Given the description of an element on the screen output the (x, y) to click on. 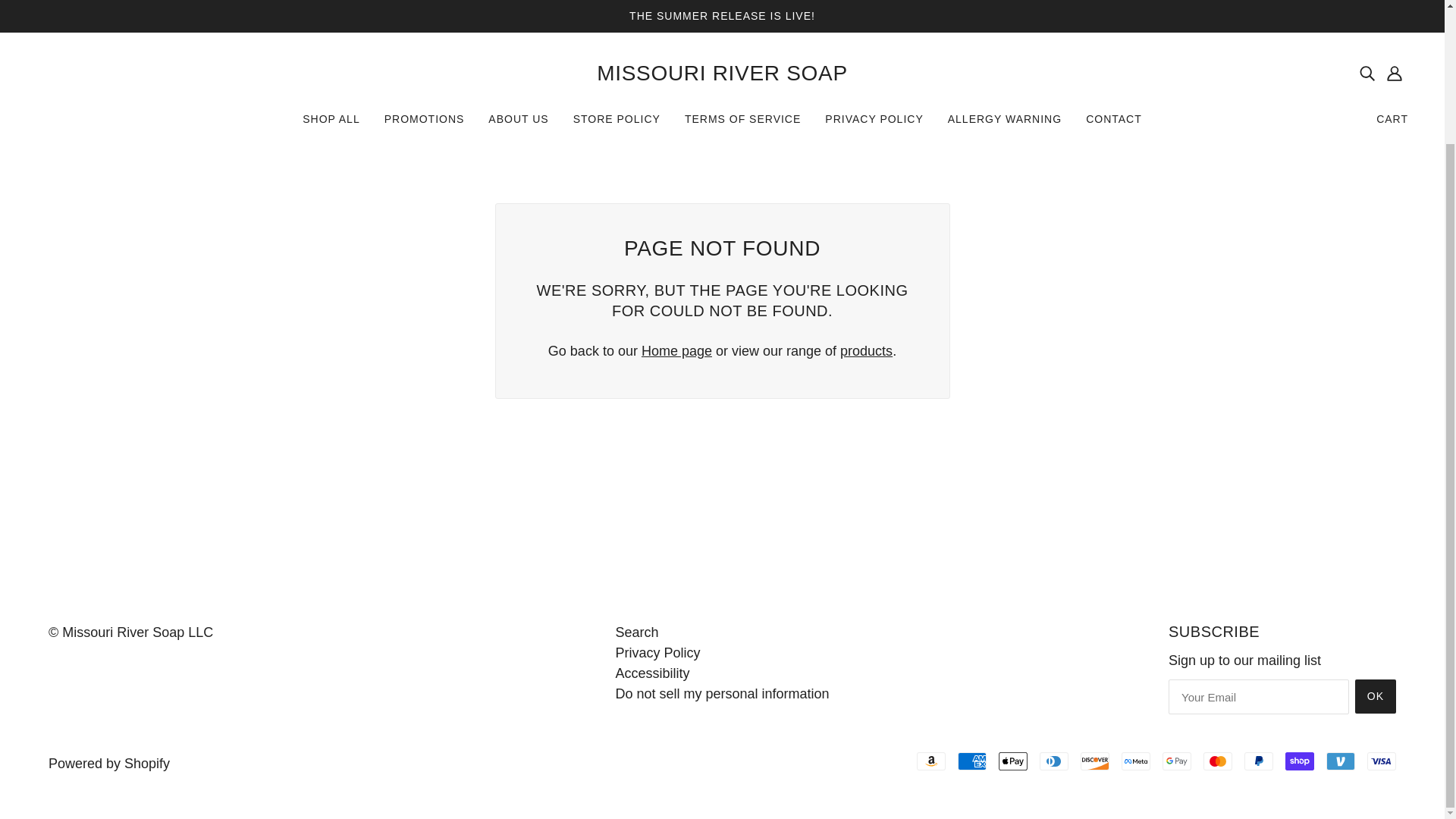
Meta Pay (1135, 761)
Apple Pay (1012, 761)
products (866, 350)
Accessibility (651, 672)
SHOP ALL (330, 124)
Do not sell my personal information (721, 693)
PayPal (1258, 761)
Venmo (1340, 761)
Mastercard (1217, 761)
Accessibility (651, 672)
PROMOTIONS (424, 124)
TERMS OF SERVICE (742, 124)
Privacy Policy (657, 652)
Diners Club (1053, 761)
CONTACT (1114, 124)
